Given the description of an element on the screen output the (x, y) to click on. 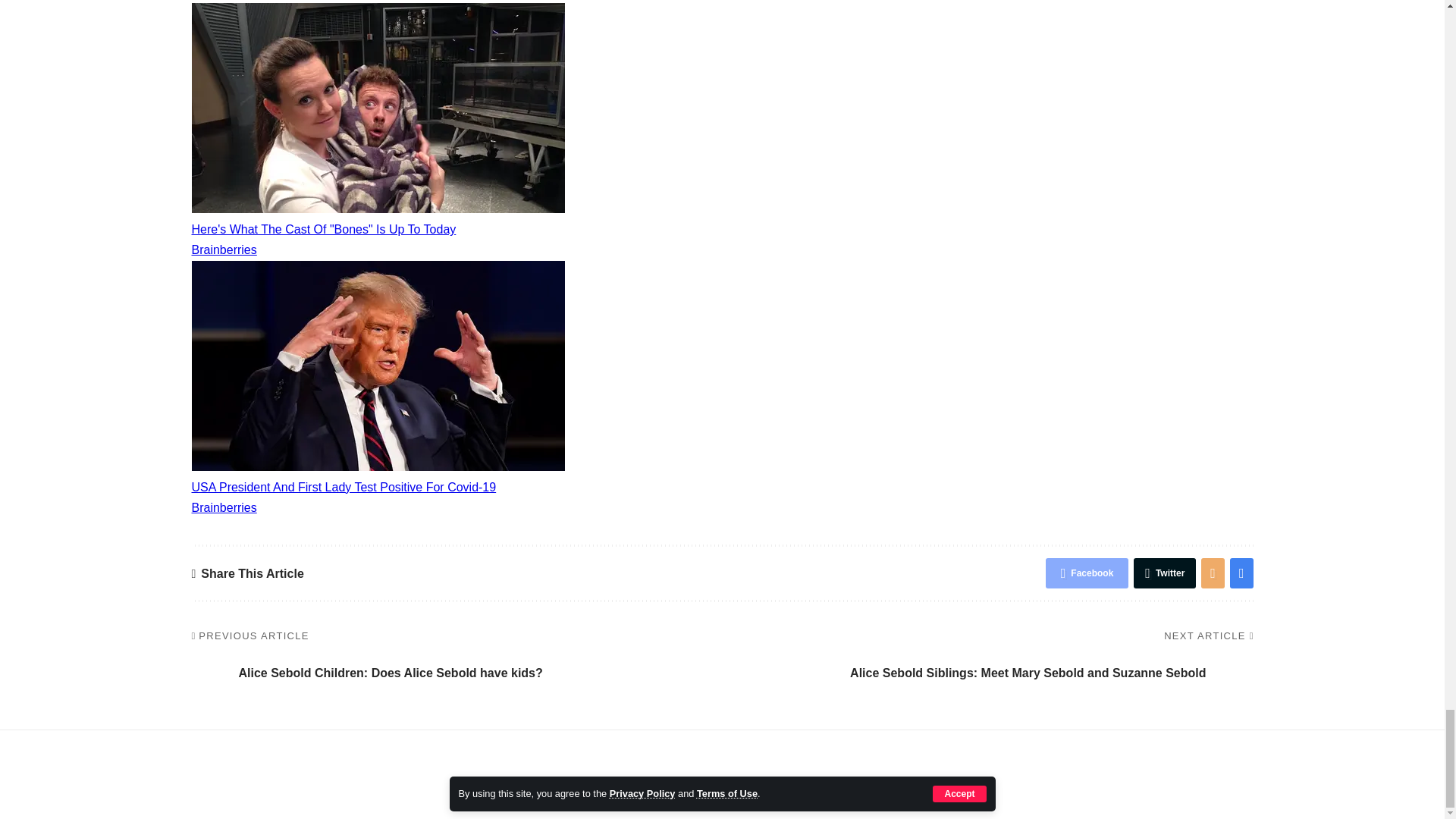
Twitter (1164, 572)
Alice Seboldgh (209, 672)
Facebook (1087, 572)
Alice Sebold3 (1233, 672)
